Given the description of an element on the screen output the (x, y) to click on. 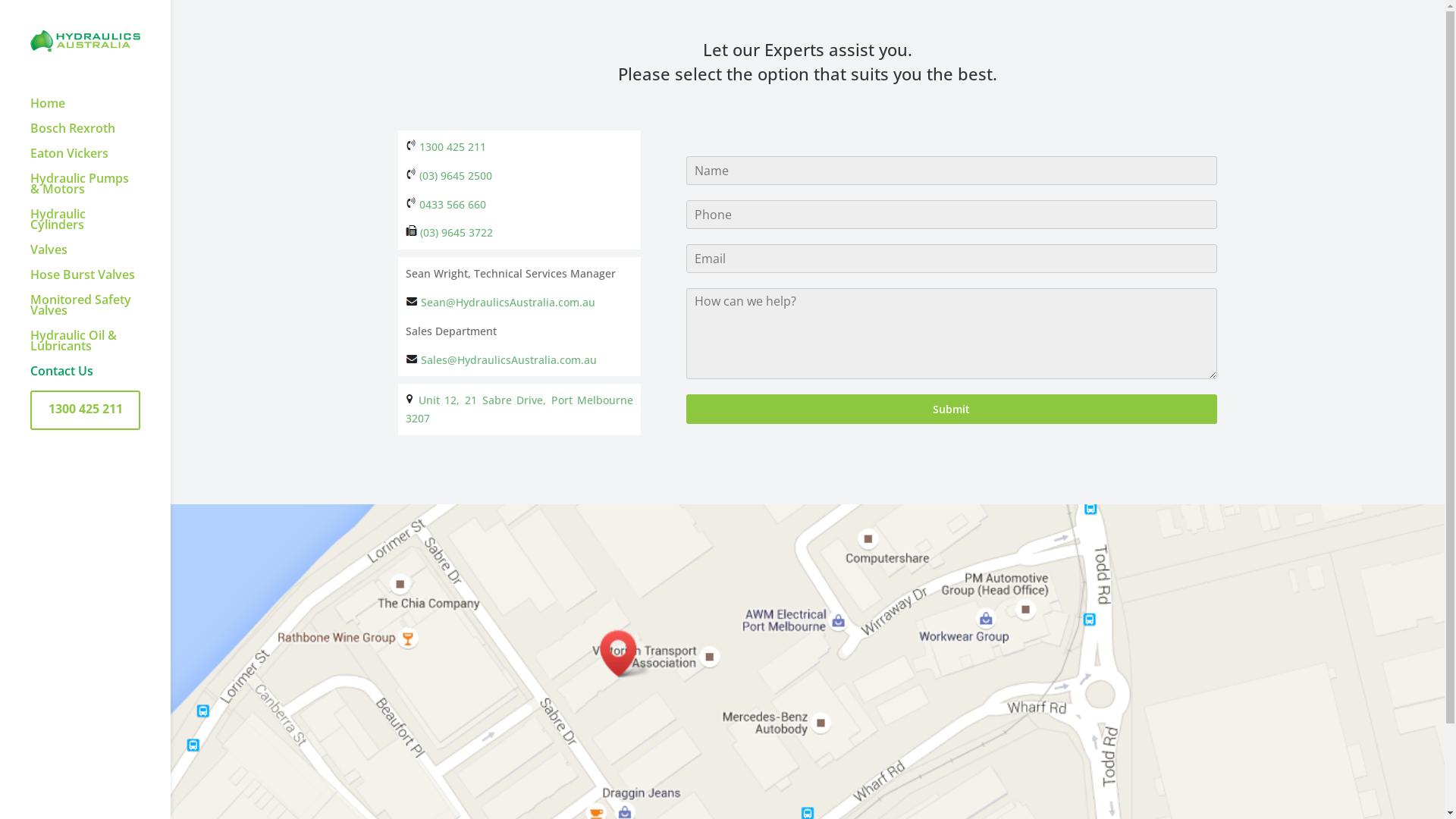
Sean@HydraulicsAustralia.com.au Element type: text (507, 301)
Hose Burst Valves Element type: text (100, 281)
Hydraulic Oil & Lubricants Element type: text (100, 347)
Hydraulic Pumps & Motors Element type: text (100, 190)
Monitored Safety Valves Element type: text (100, 311)
1300 425 211 Element type: text (100, 415)
Hydraulic Cylinders Element type: text (100, 226)
Eaton Vickers Element type: text (100, 159)
Sales@HydraulicsAustralia.com.au Element type: text (508, 359)
 1300 425 211 Element type: text (445, 146)
 (03) 9645 2500 Element type: text (448, 175)
 0433 566 660 Element type: text (445, 204)
Valves Element type: text (100, 256)
Unit 12, 21 Sabre Drive, Port Melbourne 3207 Element type: text (519, 408)
Home Element type: text (100, 109)
Bosch Rexroth Element type: text (100, 134)
 (03) 9645 3722 Element type: text (448, 232)
Submit Element type: text (951, 408)
Contact Us Element type: text (100, 377)
